Given the description of an element on the screen output the (x, y) to click on. 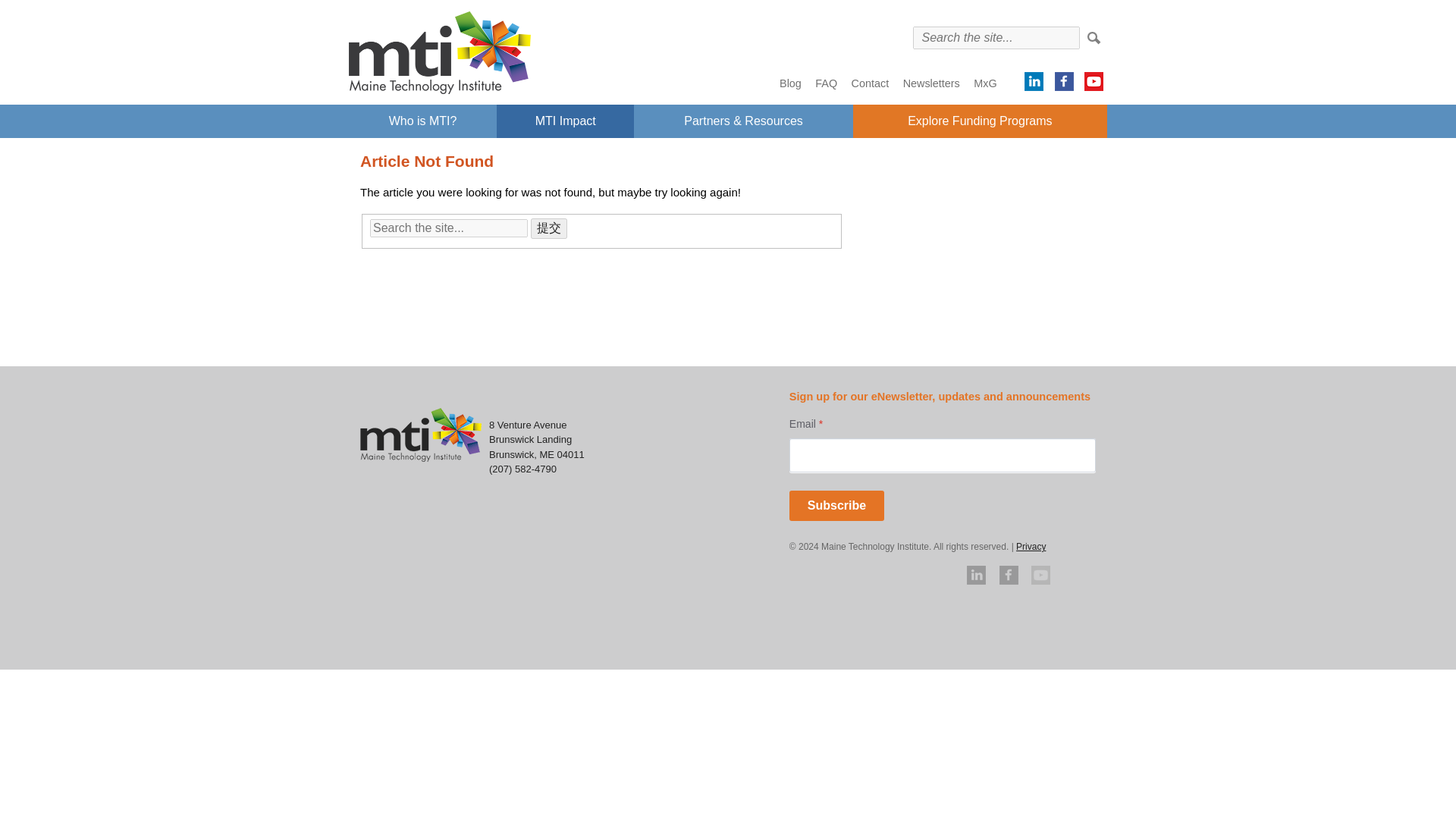
MxG (984, 82)
YT (1093, 80)
FB (1064, 80)
Explore Funding Programs (979, 121)
Blog (790, 82)
Newsletters (931, 82)
Contact (870, 82)
MTI Impact (564, 121)
FAQ (826, 82)
LI (1034, 80)
Who is MTI? (422, 121)
